Given the description of an element on the screen output the (x, y) to click on. 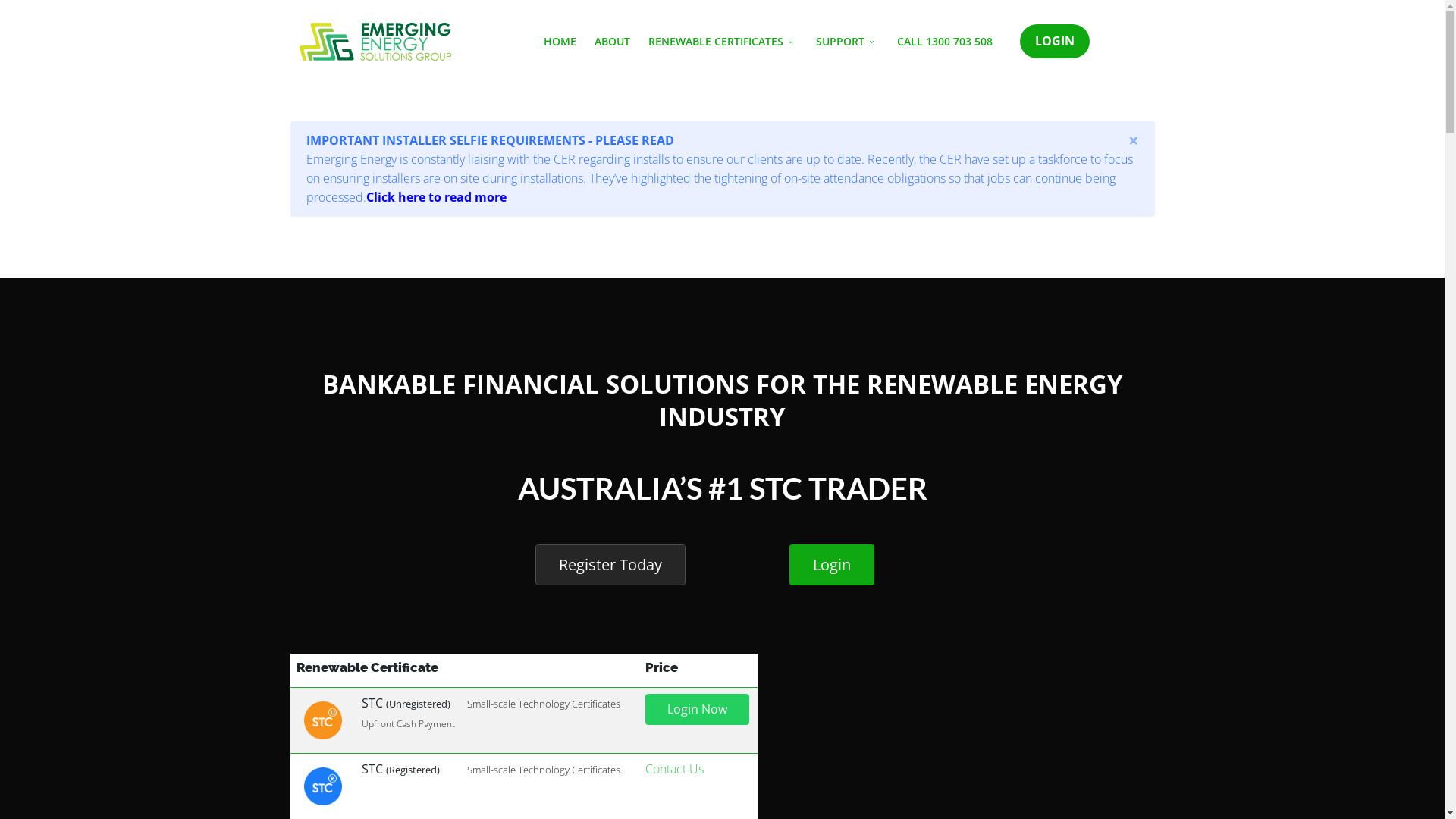
Click here to read more Element type: text (435, 196)
Contact Us Element type: text (673, 768)
IMPORTANT INSTALLER SELFIE REQUIREMENTS - PLEASE READ Element type: text (490, 139)
CALL 1300 703 508 Element type: text (944, 41)
HOME Element type: text (558, 41)
ABOUT Element type: text (612, 41)
Register Today Element type: text (610, 564)
SUPPORT Element type: text (847, 41)
Login Element type: text (831, 564)
LOGIN Element type: text (1053, 41)
Login Now Element type: text (696, 708)
RENEWABLE CERTIFICATES Element type: text (722, 41)
